Given the description of an element on the screen output the (x, y) to click on. 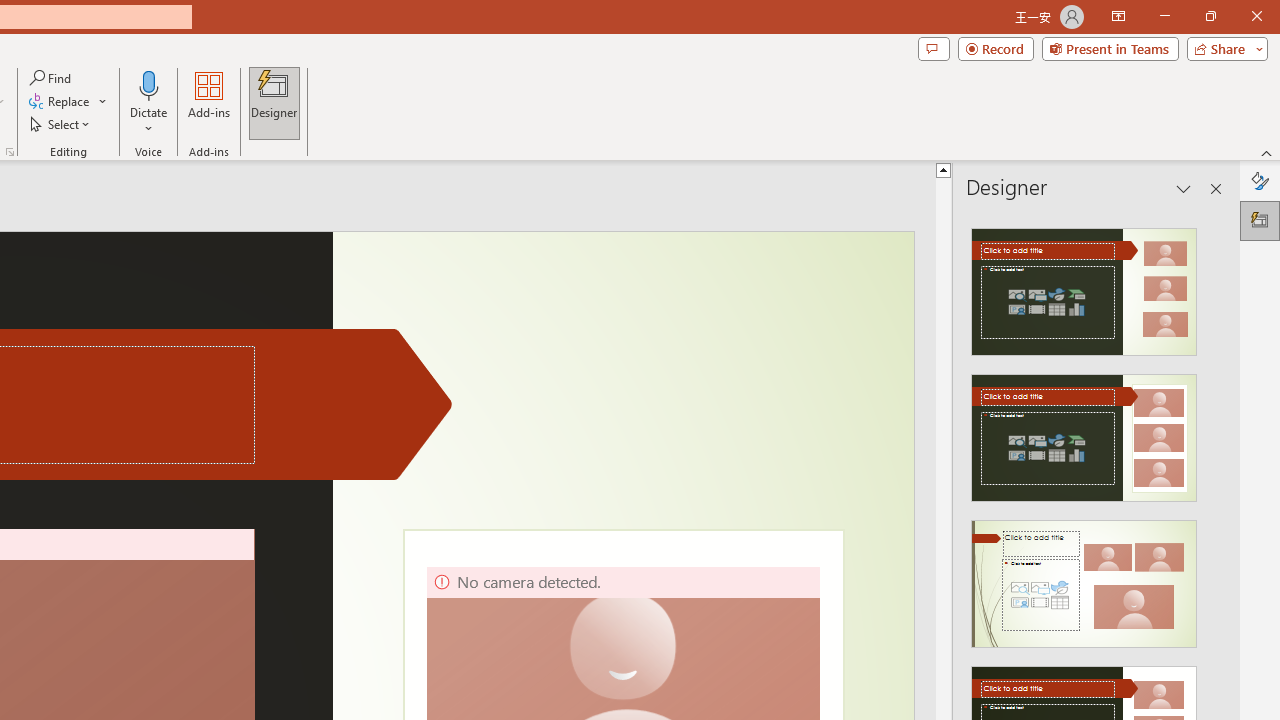
Present in Teams (1109, 48)
Class: NetUIImage (1083, 584)
Recommended Design: Design Idea (1083, 286)
Dictate (149, 84)
Replace... (60, 101)
Share (1223, 48)
Task Pane Options (1183, 188)
Format Object... (9, 151)
Designer (274, 102)
Record (995, 48)
Find... (51, 78)
